Given the description of an element on the screen output the (x, y) to click on. 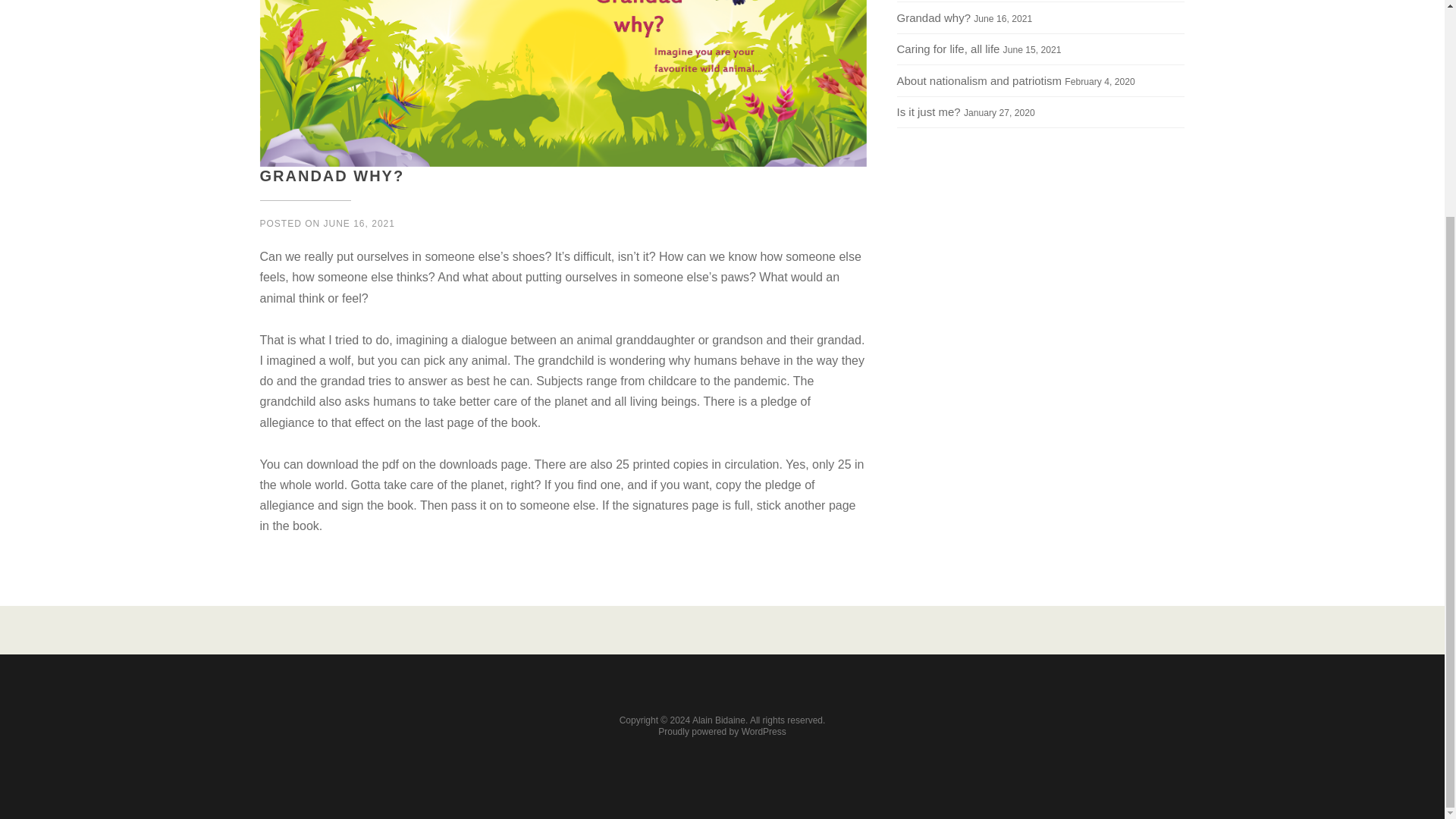
Proudly powered by WordPress (722, 731)
Is it just me? (927, 111)
About nationalism and patriotism (978, 80)
JUNE 16, 2021 (358, 223)
Caring for life, all life (947, 48)
Grandad why? (933, 17)
GRANDAD WHY? (331, 175)
